Given the description of an element on the screen output the (x, y) to click on. 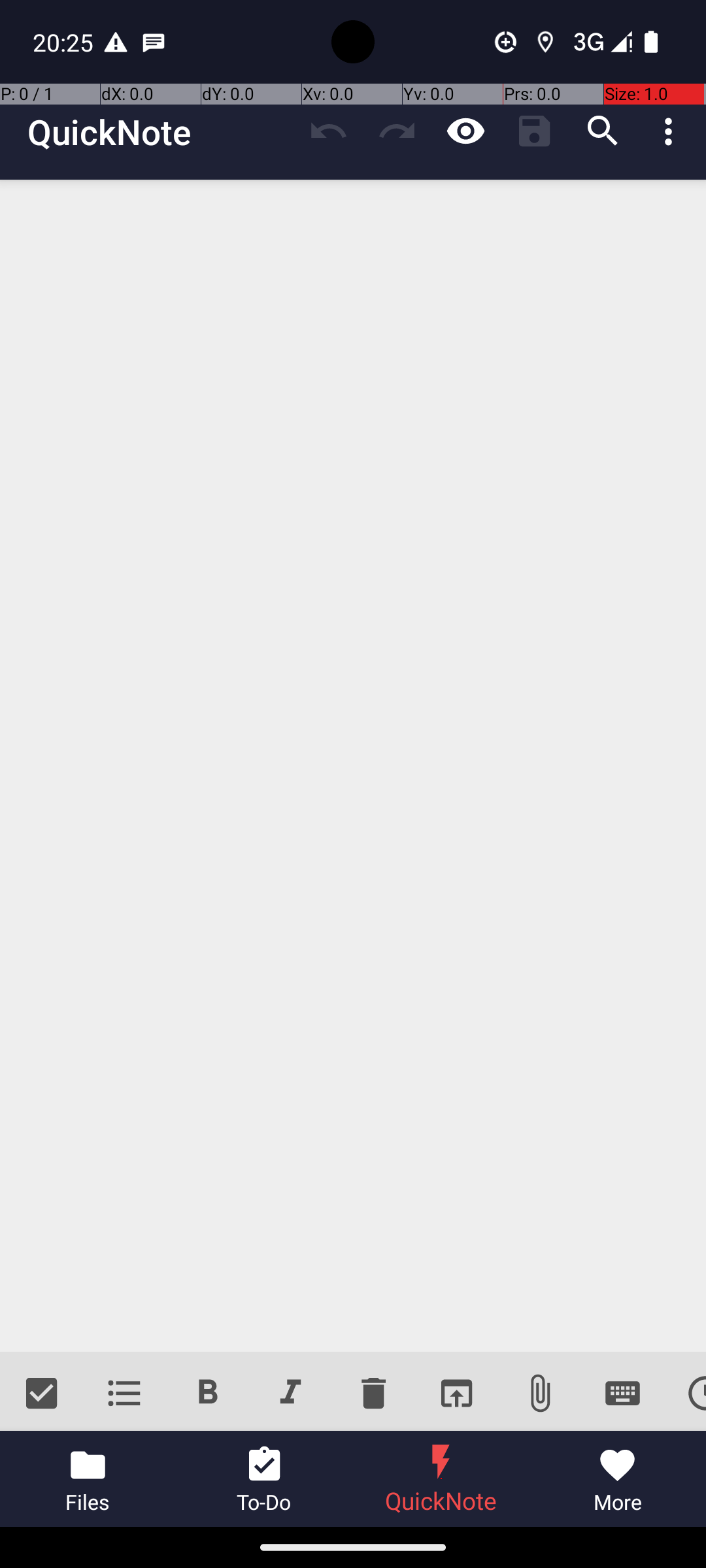
20:25 Element type: android.widget.TextView (64, 41)
